Given the description of an element on the screen output the (x, y) to click on. 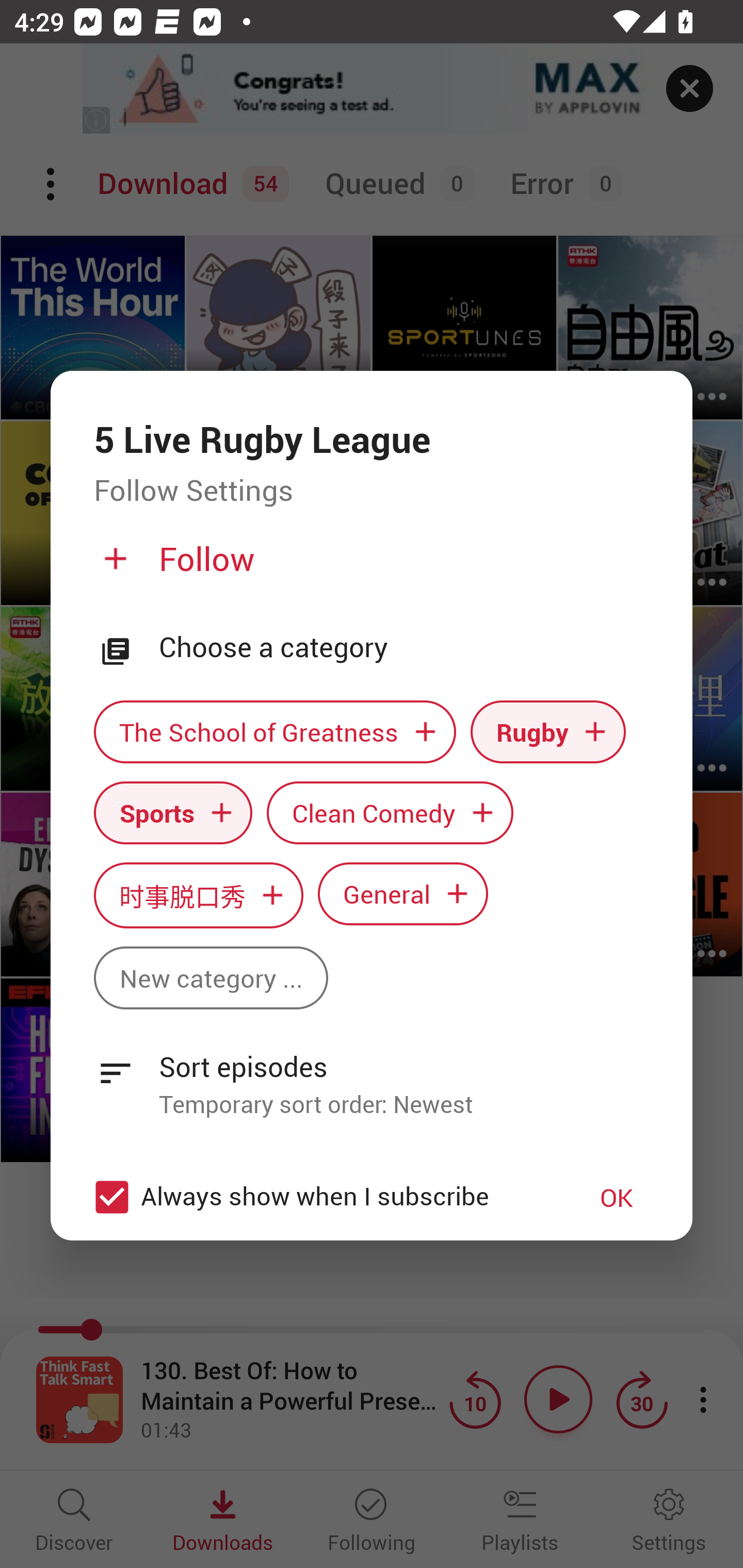
Follow (369, 566)
Choose a category (404, 647)
The School of Greatness (274, 731)
Rugby (547, 731)
Sports (172, 811)
Clean Comedy (389, 811)
时事脱口秀 (198, 895)
General (403, 893)
New category ... (210, 978)
Sort episodes Temporary sort order: Newest (371, 1073)
OK (616, 1197)
Always show when I subscribe (320, 1197)
